Given the description of an element on the screen output the (x, y) to click on. 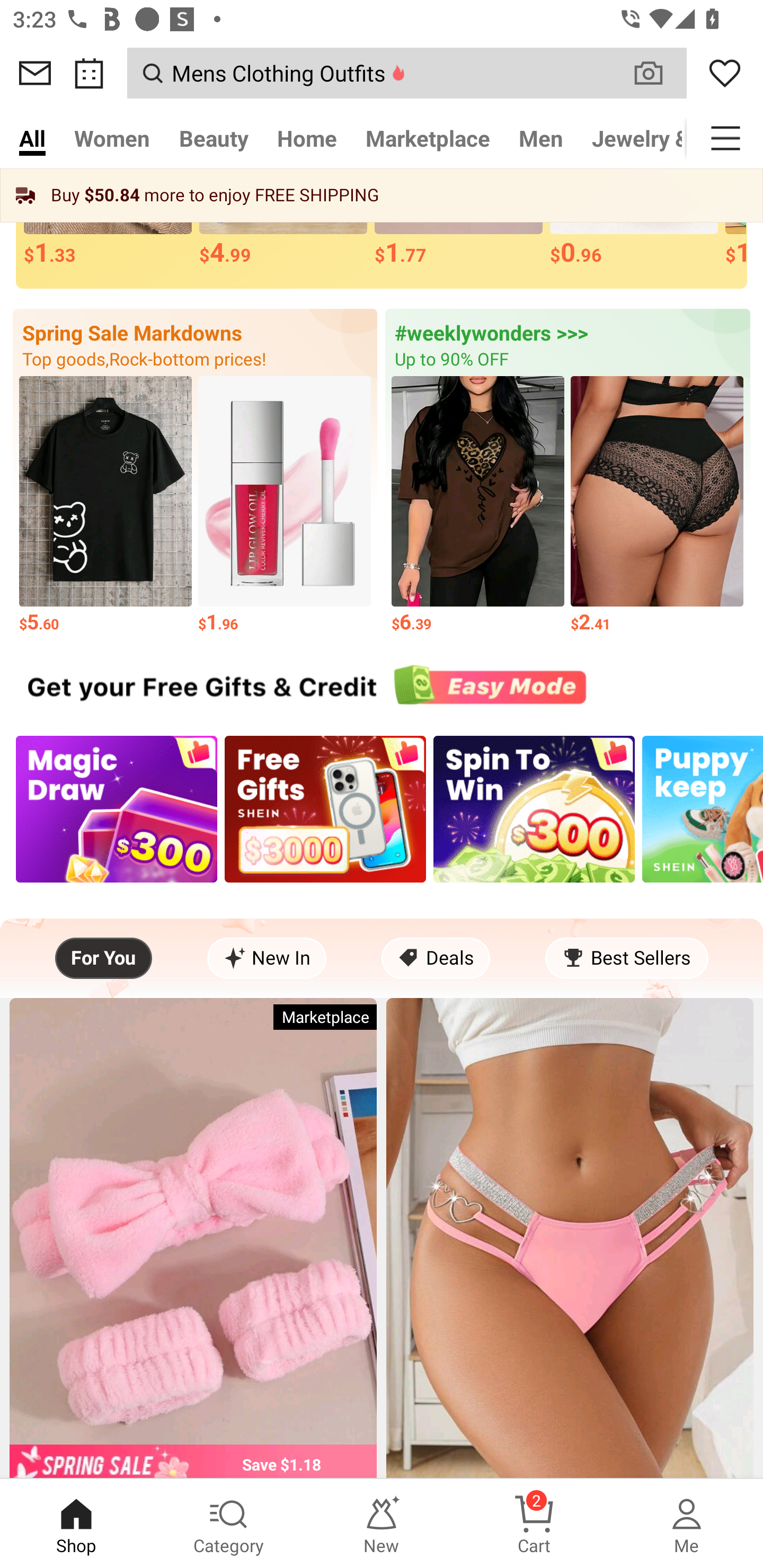
Wishlist (724, 72)
VISUAL SEARCH (657, 72)
All (31, 137)
Women (111, 137)
Beauty (213, 137)
Home (306, 137)
Marketplace (427, 137)
Men (540, 137)
Jewelry & Accs (631, 137)
Buy $50.84 more to enjoy FREE SHIPPING (381, 194)
$5.60 Price $5.60 (105, 505)
$1.96 Price $1.96 (284, 505)
$6.39 Price $6.39 (477, 505)
$2.41 Price $2.41 (656, 505)
New In (266, 957)
Deals (435, 957)
Best Sellers (626, 957)
Glitter Tape Cut Out Heart Ring Linked Panty (569, 1237)
Category (228, 1523)
New (381, 1523)
Cart 2 Cart (533, 1523)
Me (686, 1523)
